Given the description of an element on the screen output the (x, y) to click on. 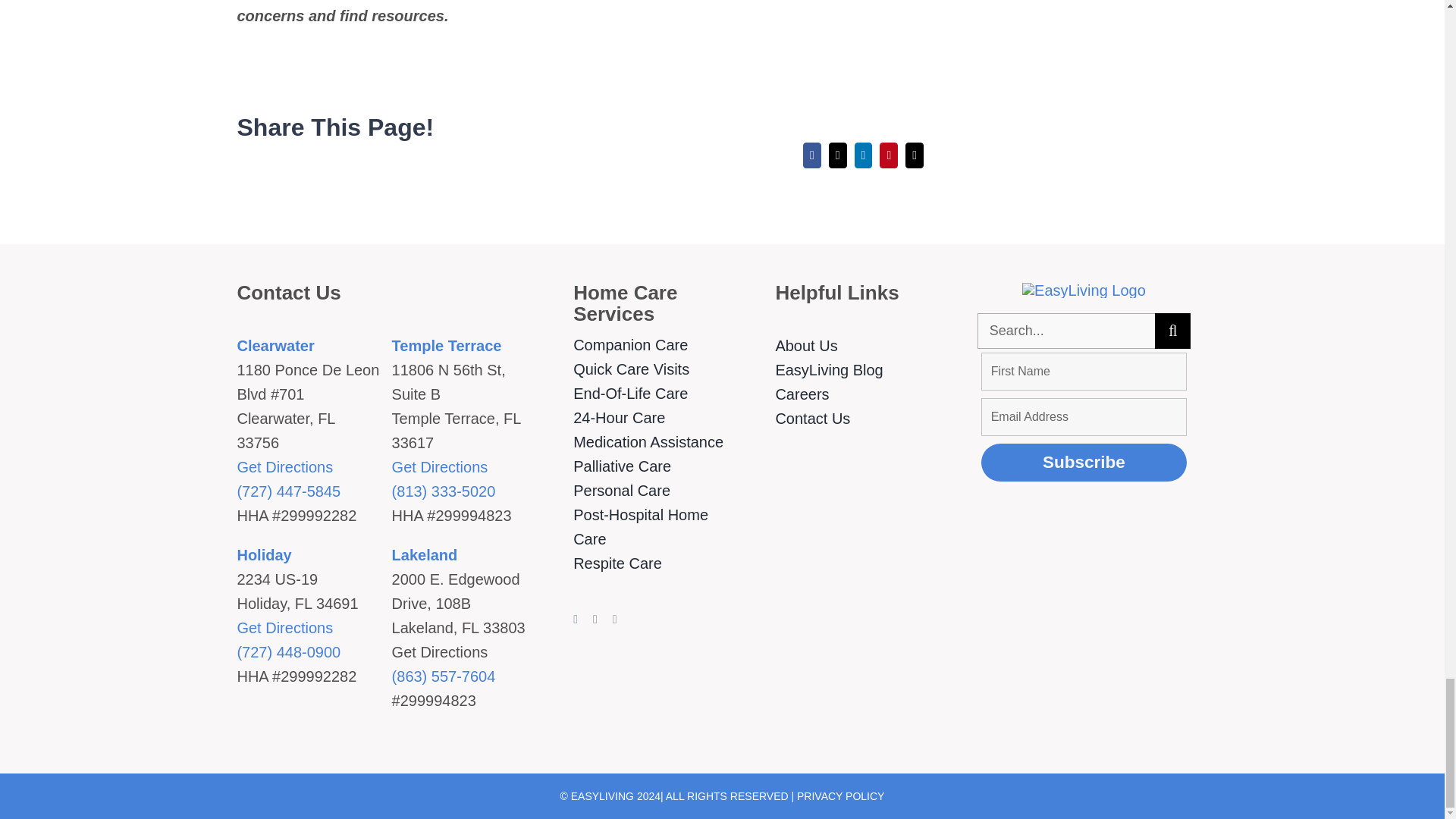
Subscribe (1084, 462)
